Given the description of an element on the screen output the (x, y) to click on. 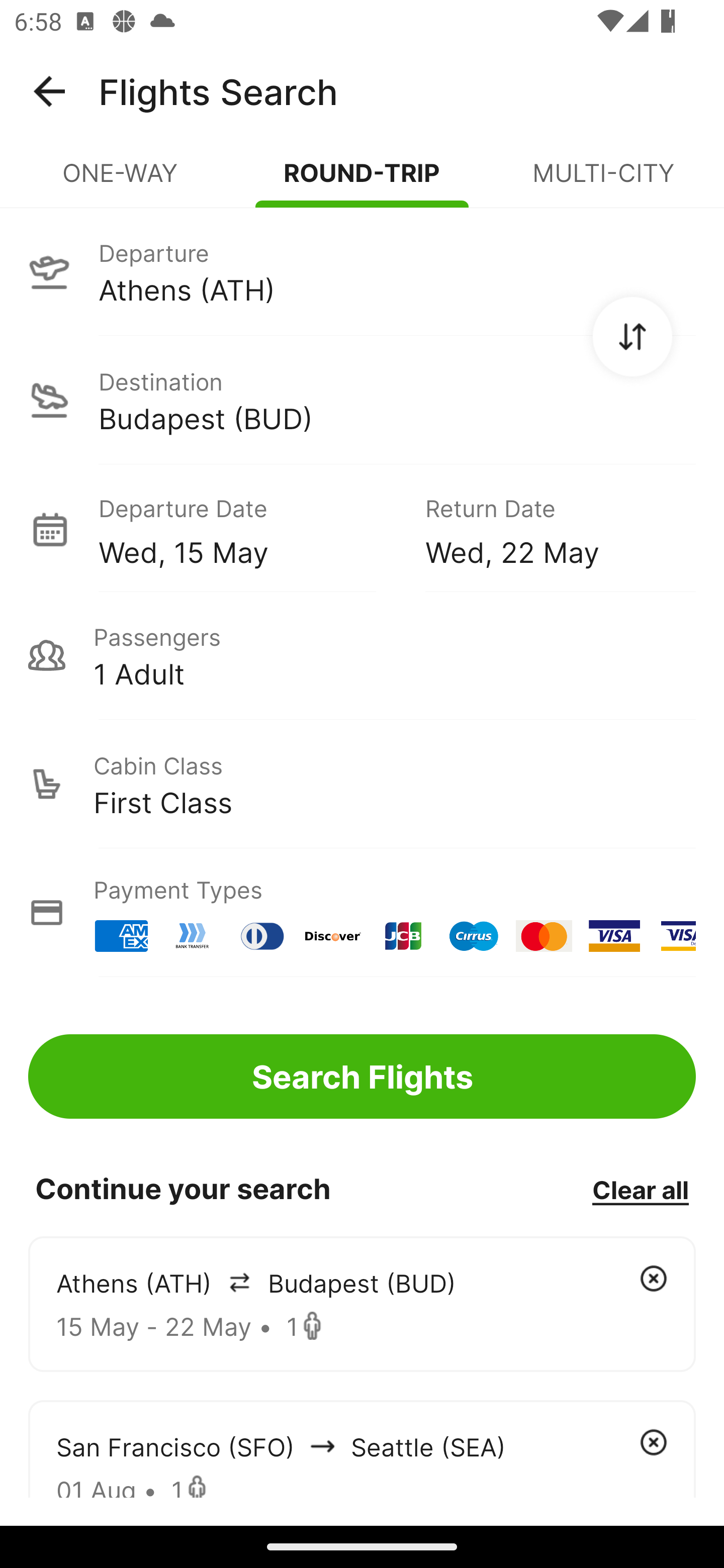
ONE-WAY (120, 180)
ROUND-TRIP (361, 180)
MULTI-CITY (603, 180)
Departure Athens (ATH) (362, 270)
Destination Budapest (BUD) (362, 400)
Departure Date Wed, 15 May (247, 528)
Return Date Wed, 22 May (546, 528)
Passengers 1 Adult (362, 655)
Cabin Class First Class (362, 783)
Payment Types (362, 912)
Search Flights (361, 1075)
Clear all (640, 1189)
